Given the description of an element on the screen output the (x, y) to click on. 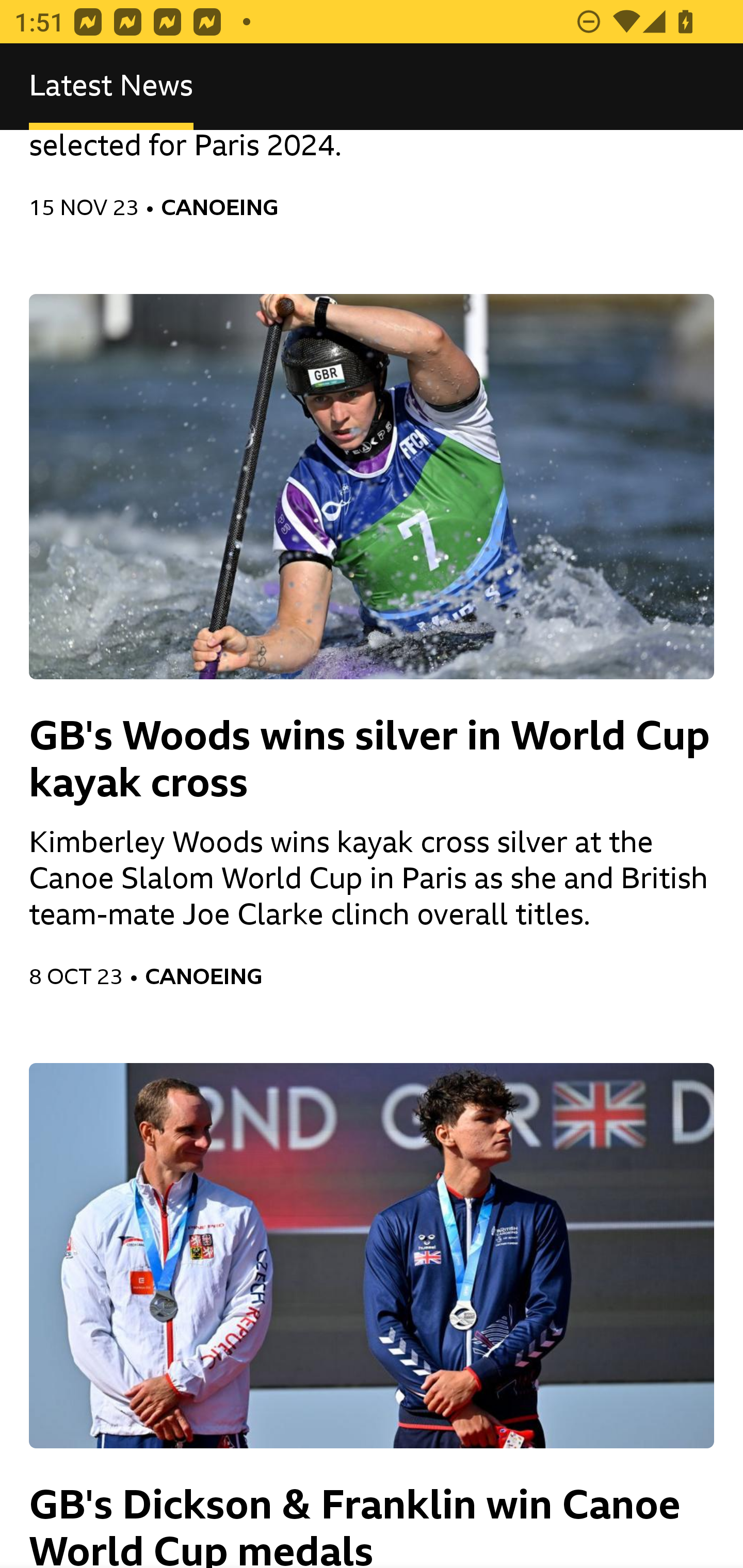
Latest News, selected Latest News (111, 86)
CANOEING In the section Canoeing (437, 206)
CANOEING In the section Canoeing (429, 975)
GB's Dickson & Franklin win Canoe World Cup medals (371, 1315)
